Given the description of an element on the screen output the (x, y) to click on. 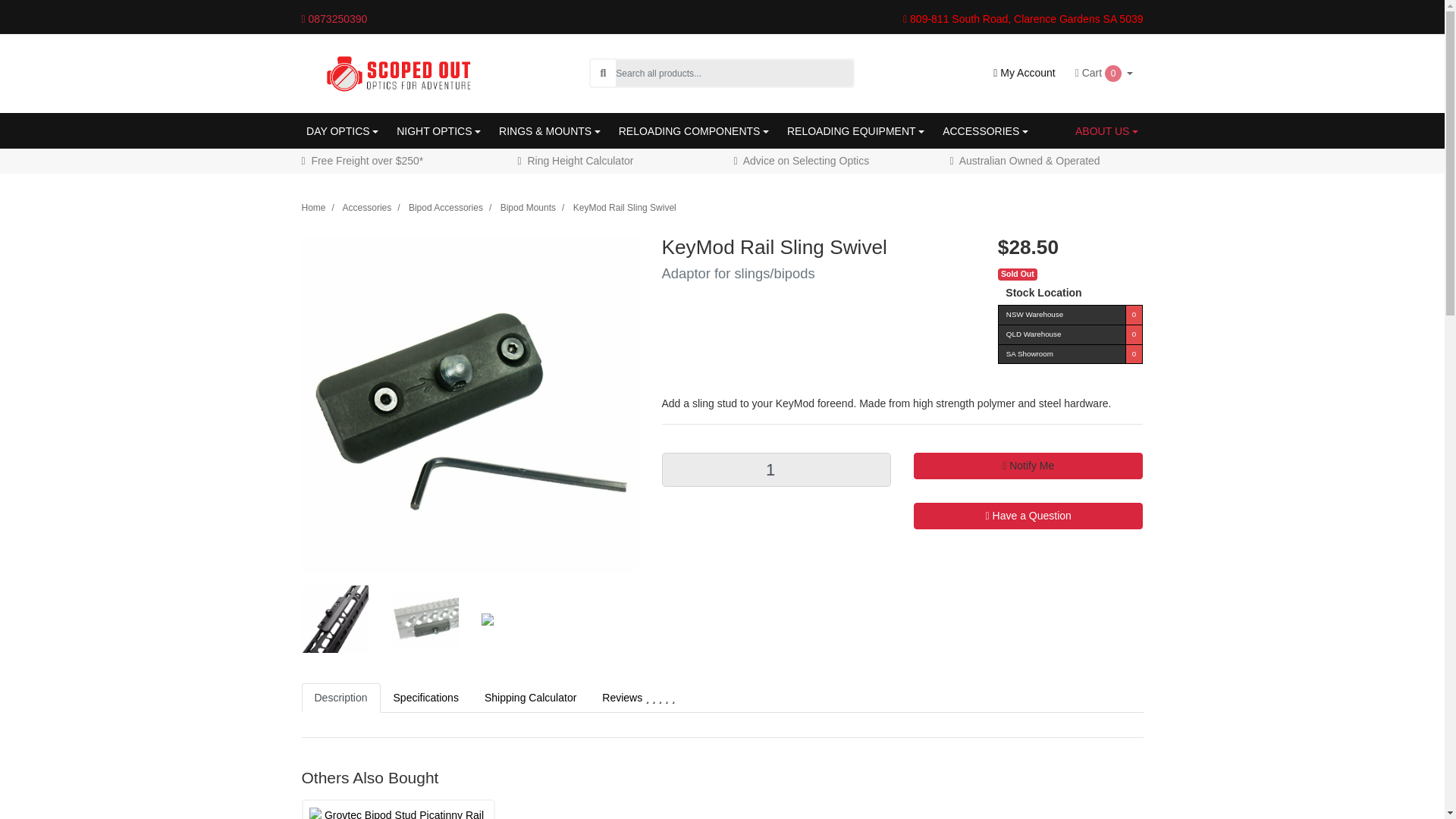
Search (602, 72)
My Account (1024, 72)
Scoped Out (398, 72)
0873250390 (352, 18)
DAY OPTICS (342, 131)
1 (775, 469)
809-811 South Road, Clarence Gardens SA 5039 (1022, 19)
Cart 0 (1103, 72)
